Given the description of an element on the screen output the (x, y) to click on. 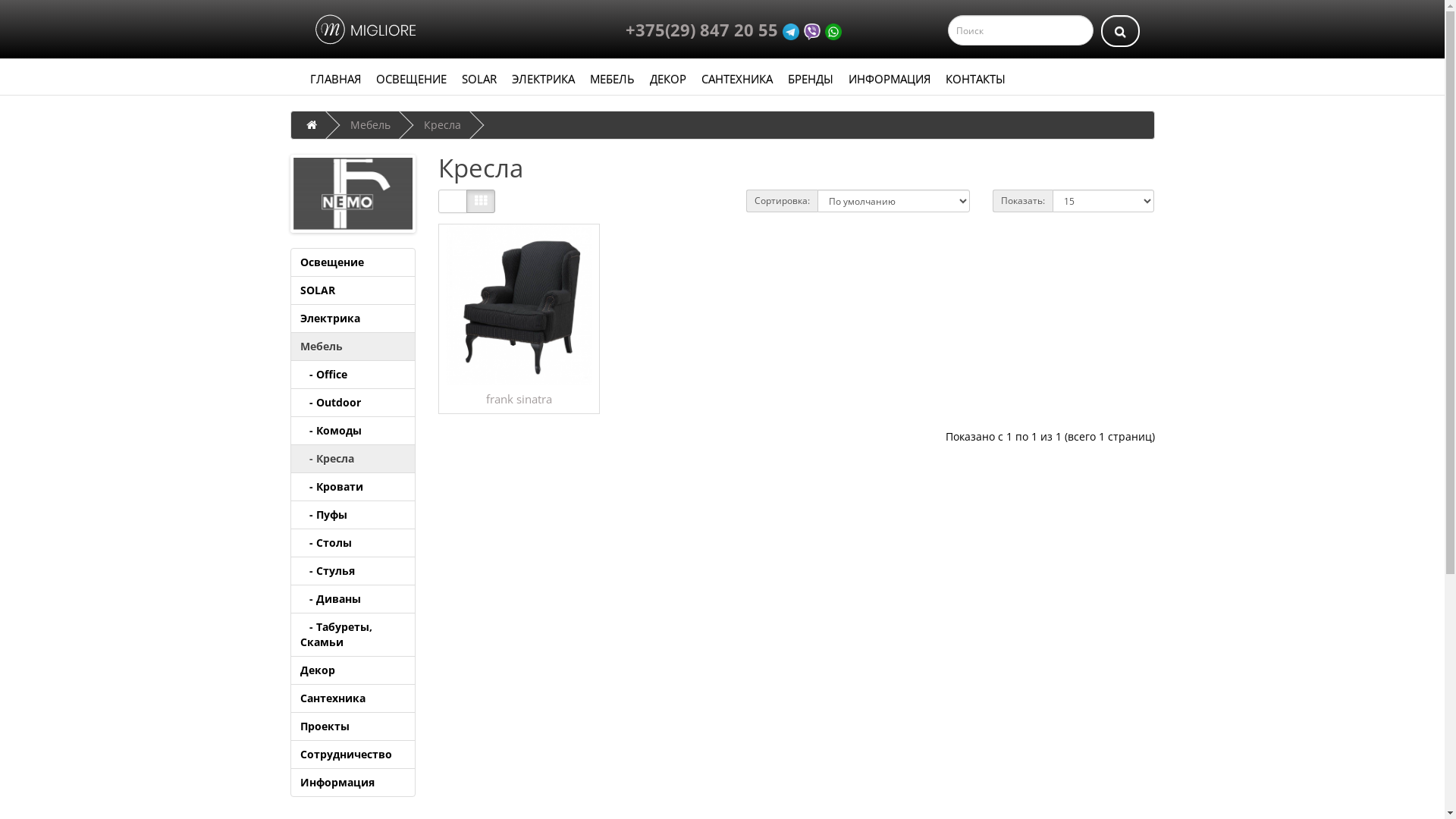
+375(29) 847 20 55 Element type: text (701, 29)
   - Office Element type: text (351, 374)
SOLAR Element type: text (478, 78)
frank sinatra Element type: text (519, 398)
   - Outdoor Element type: text (351, 402)
migliore.by Element type: hover (362, 29)
frank sinatra Element type: hover (518, 304)
SOLAR Element type: text (351, 290)
